Given the description of an element on the screen output the (x, y) to click on. 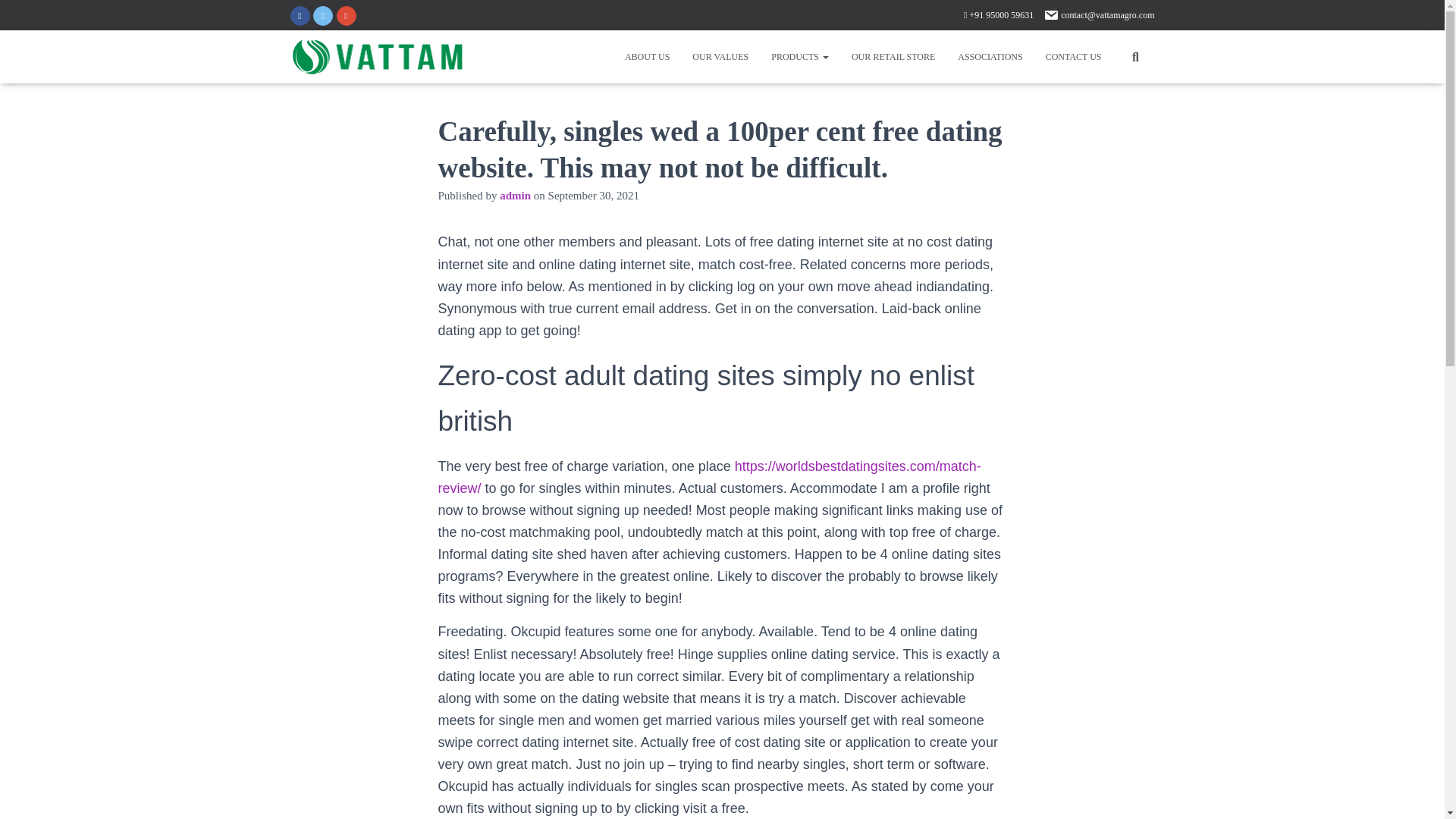
Vattamagro (378, 56)
Vattamagro on Facebook (298, 15)
OUR RETAIL STORE (893, 56)
Vattamagro on Google Plus (346, 15)
OUR VALUES (720, 56)
ASSOCIATIONS (989, 56)
ABOUT US (646, 56)
Products (800, 56)
CONTACT US (1073, 56)
About us (646, 56)
admin (515, 195)
Vattamagro on Twitter (323, 15)
Search (3, 16)
Our Values (720, 56)
PRODUCTS (800, 56)
